Given the description of an element on the screen output the (x, y) to click on. 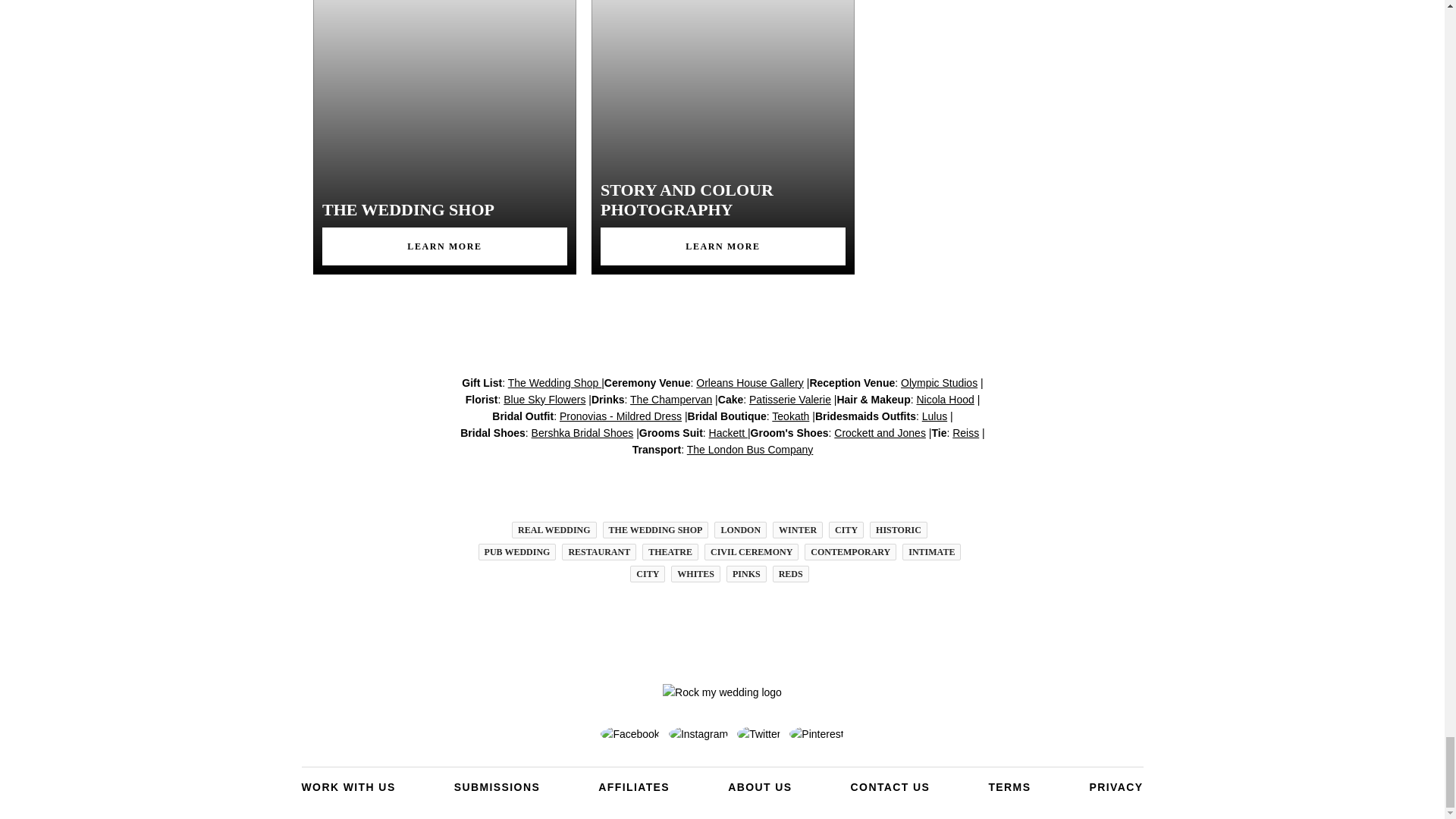
LEARN MORE (722, 246)
LEARN MORE (443, 246)
Orleans House Gallery (749, 382)
Olympic Studios (938, 382)
The Wedding Shop (553, 382)
